Given the description of an element on the screen output the (x, y) to click on. 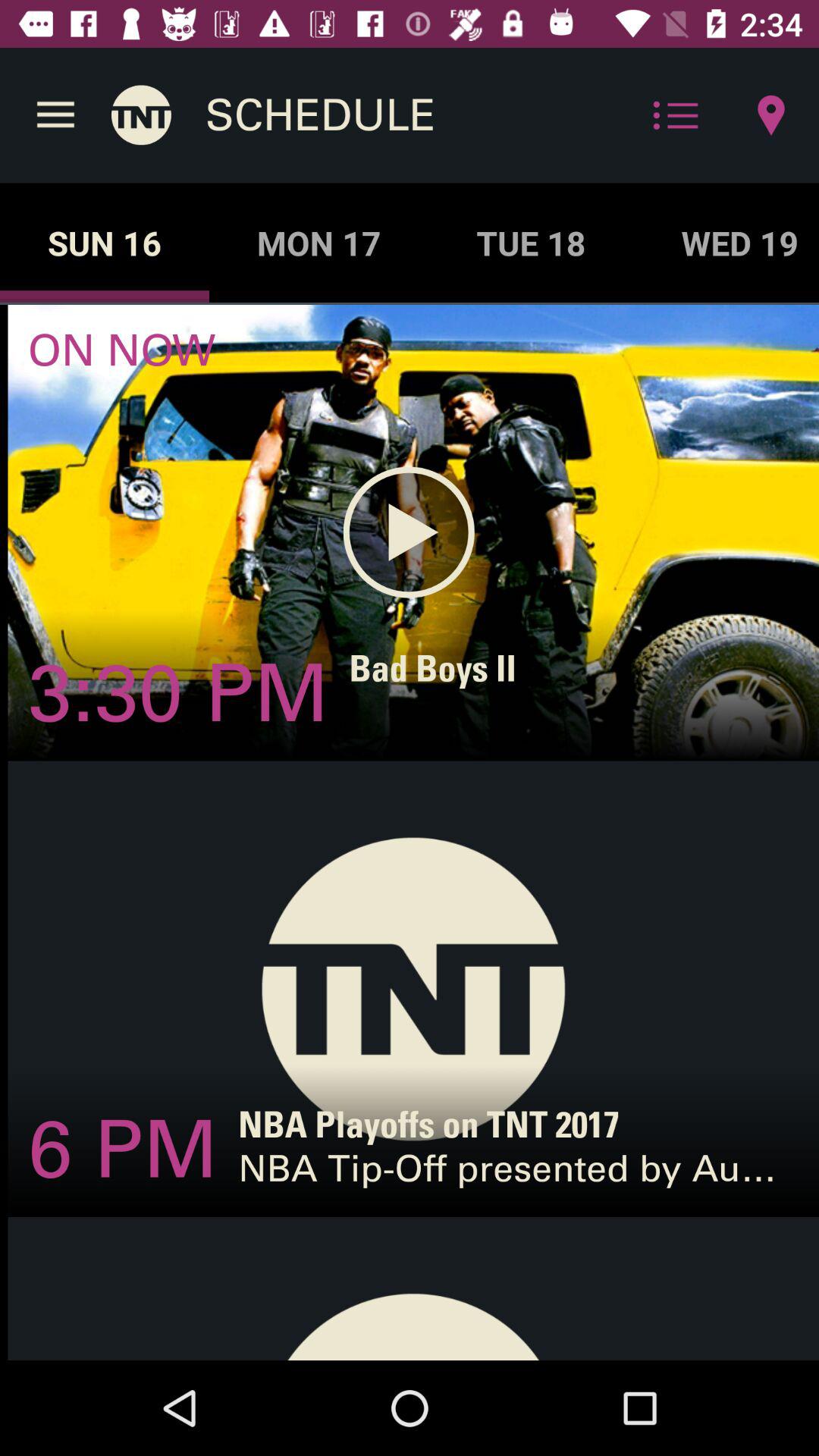
click on location icon (771, 114)
select the 2nd image on the web page (413, 989)
click on the icon beside location icon (675, 114)
click on tue 18 on the right side of mon 17 (531, 242)
